Given the description of an element on the screen output the (x, y) to click on. 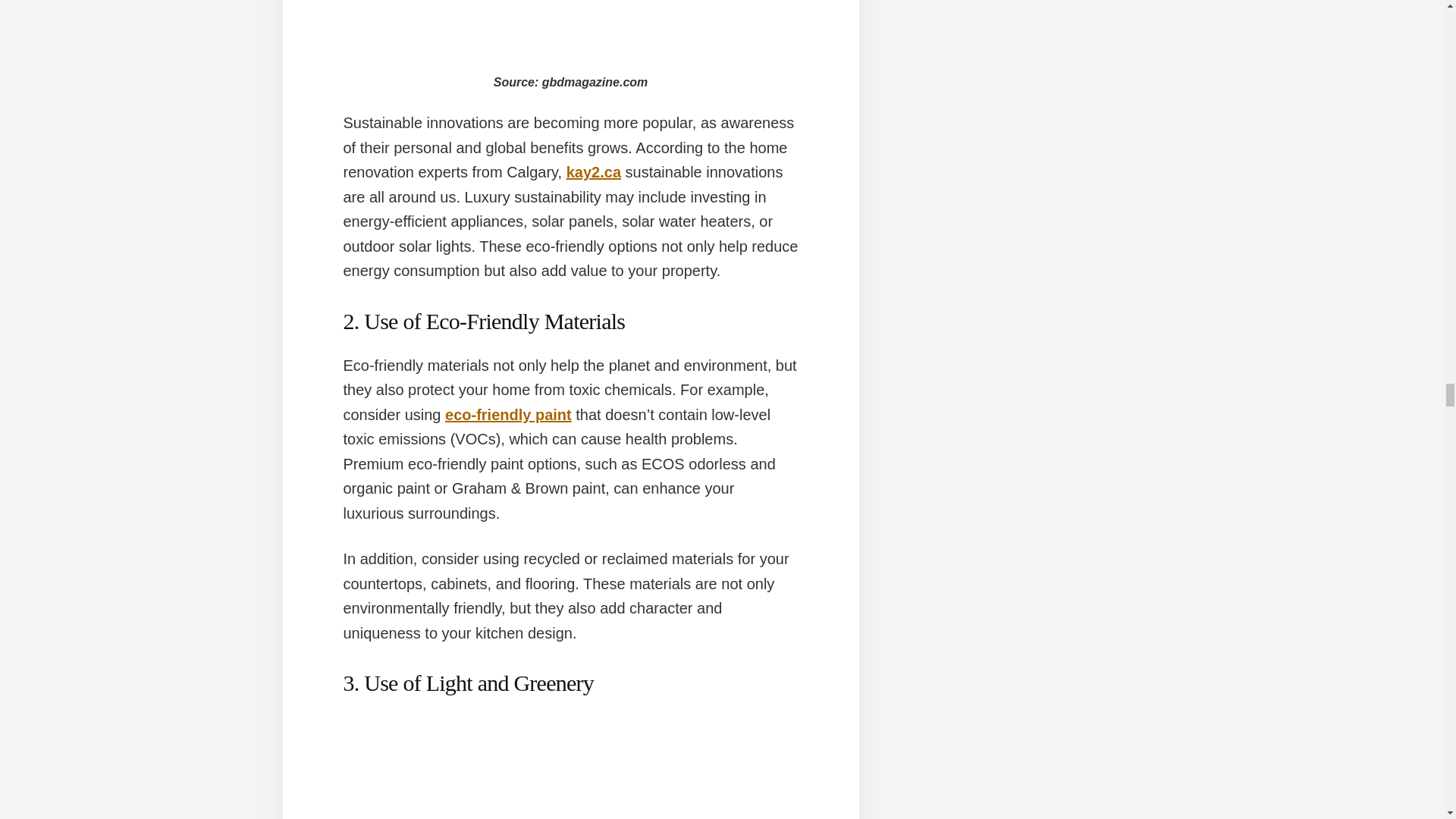
kay2.ca (593, 171)
eco-friendly paint (508, 414)
